Given the description of an element on the screen output the (x, y) to click on. 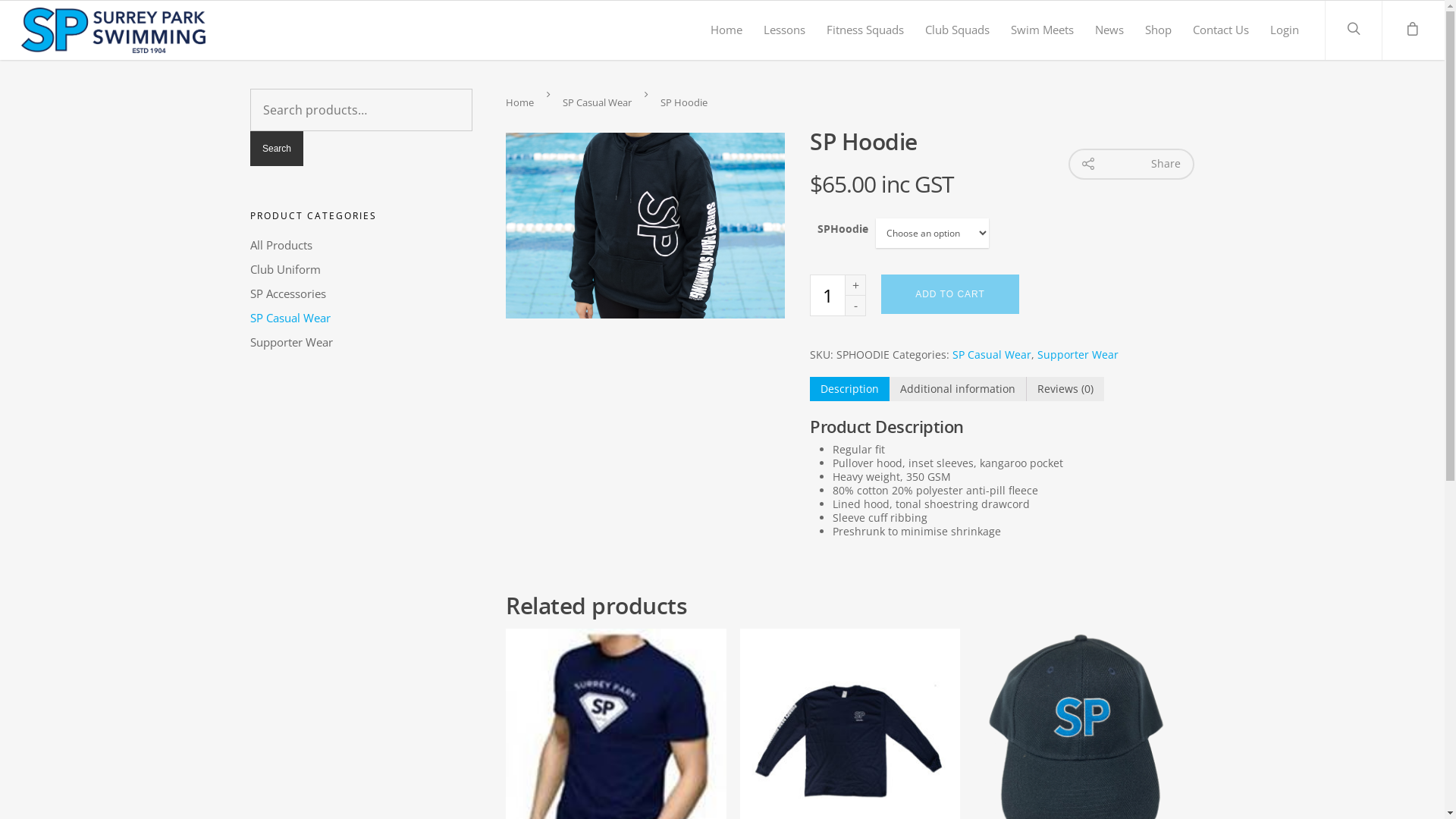
Additional information Element type: text (957, 388)
Contact Us Element type: text (1220, 33)
Shop Element type: text (1158, 33)
Lessons Element type: text (784, 33)
ADD TO CART Element type: text (950, 293)
SP Casual Wear Element type: text (991, 354)
Search Element type: text (276, 148)
Supporter Wear Element type: text (361, 341)
Swim Meets Element type: text (1042, 33)
All Products Element type: text (361, 244)
Club Uniform Element type: text (361, 268)
SP Casual Wear Element type: text (361, 317)
Share Element type: text (1131, 163)
Fitness Squads Element type: text (864, 33)
SP Accessories Element type: text (361, 293)
Supporter Wear Element type: text (1077, 354)
Club Squads Element type: text (957, 33)
Reviews (0) Element type: text (1065, 388)
SP Casual Wear Element type: text (596, 102)
News Element type: text (1109, 33)
Home Element type: text (726, 33)
Login Element type: text (1284, 33)
Home Element type: text (519, 102)
Description Element type: text (849, 388)
